Given the description of an element on the screen output the (x, y) to click on. 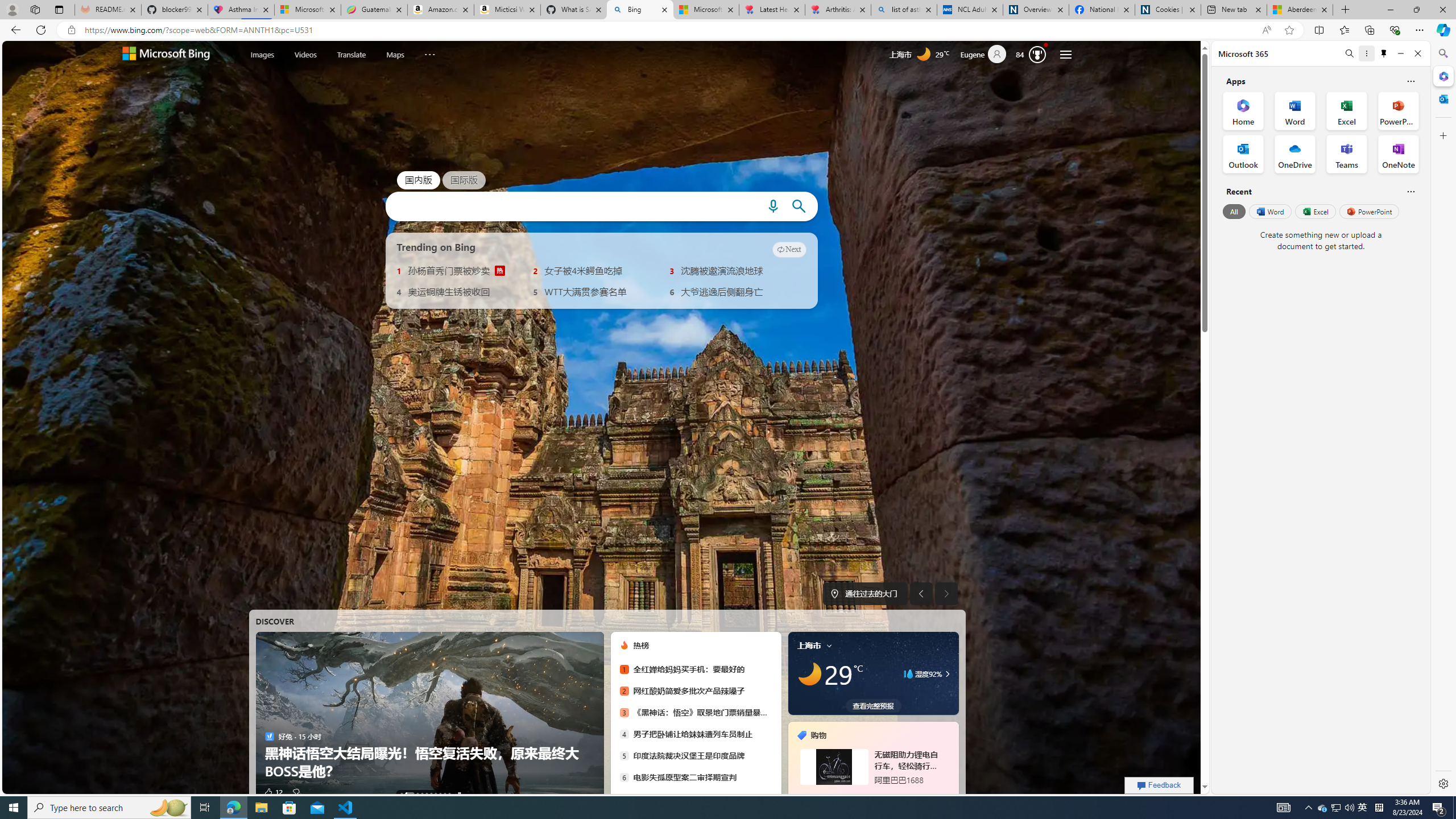
Eugene (987, 54)
Is this helpful? (1410, 191)
AutomationID: tab-4 (426, 793)
Excel Office App (1346, 110)
Videos (305, 54)
OneDrive Office App (1295, 154)
